Given the description of an element on the screen output the (x, y) to click on. 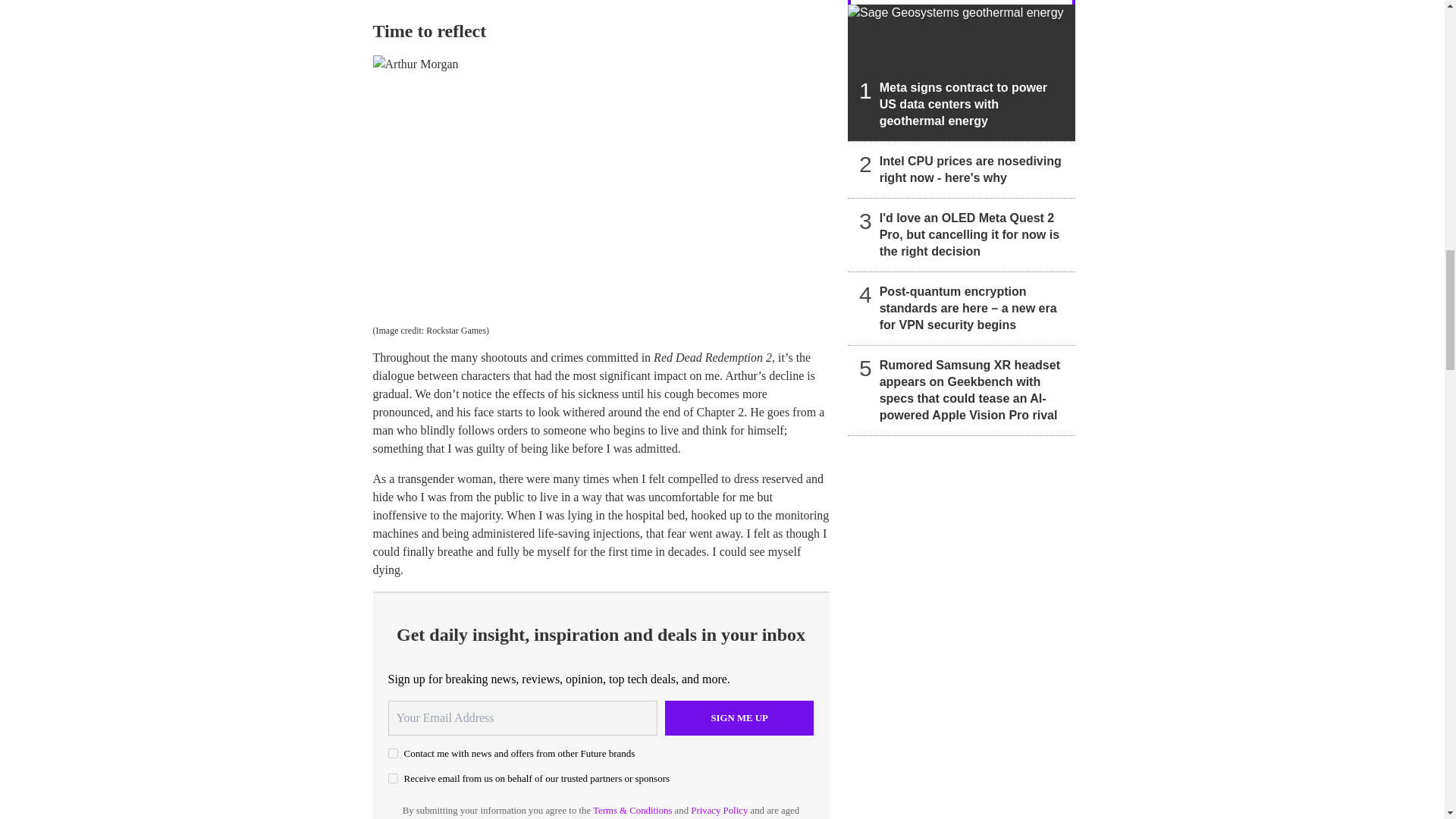
on (392, 777)
Sign me up (739, 718)
on (392, 753)
